Given the description of an element on the screen output the (x, y) to click on. 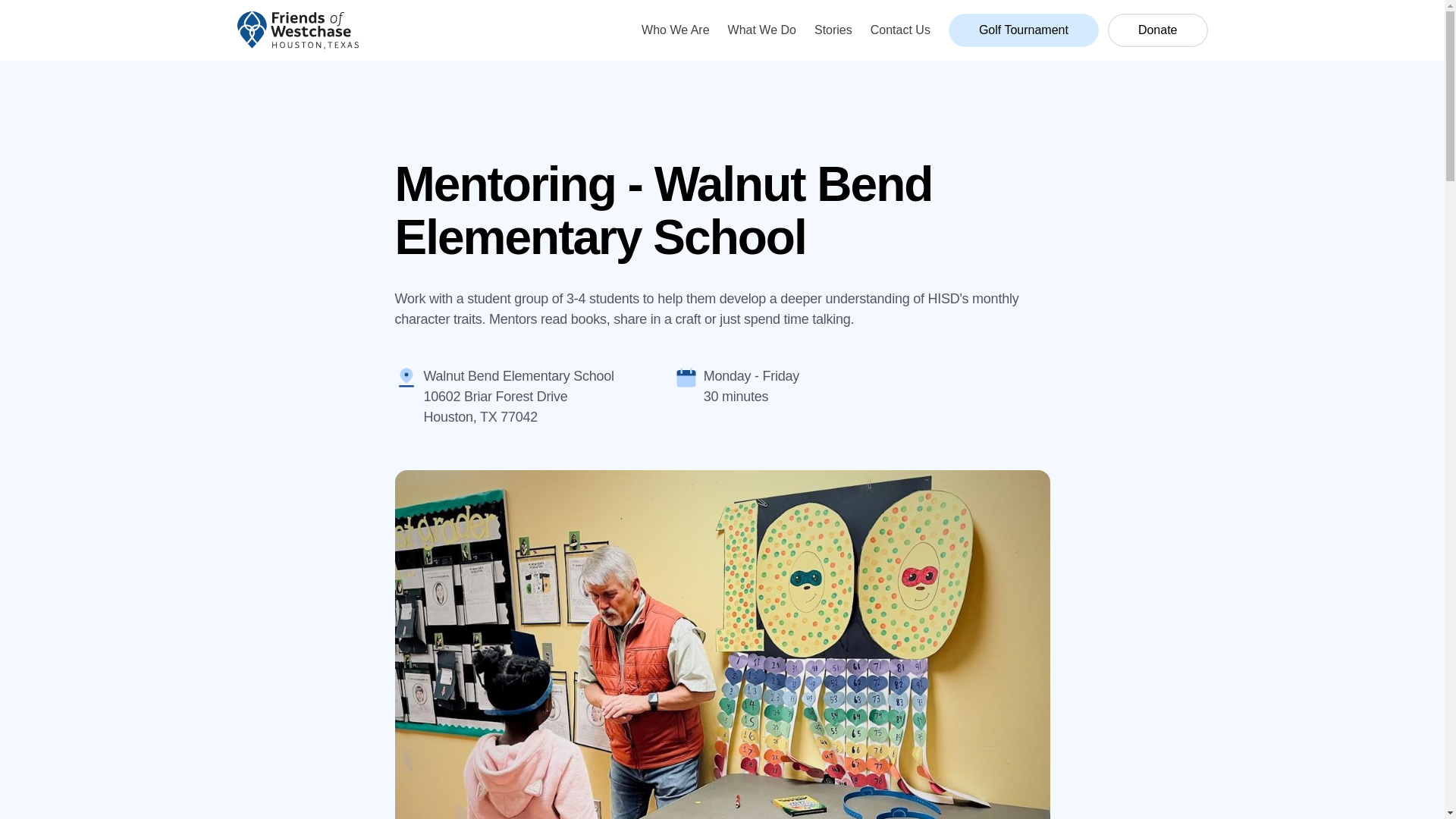
Golf Tournament (1024, 29)
Who We Are (676, 30)
Donate (1158, 29)
What We Do (762, 30)
Contact Us (900, 30)
